Given the description of an element on the screen output the (x, y) to click on. 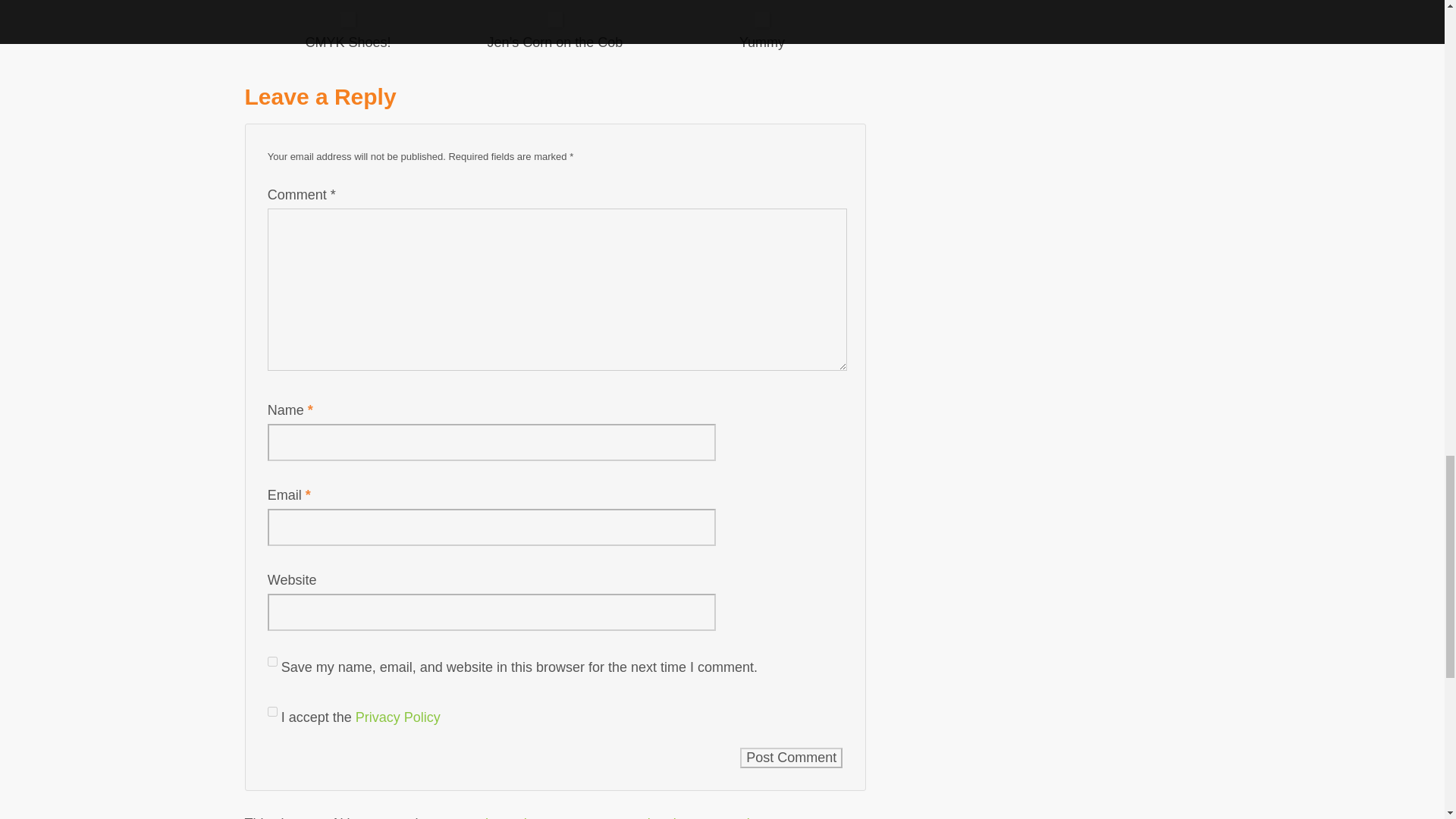
Post Comment (791, 757)
Post Comment (791, 757)
Privacy Policy (398, 717)
Learn how your comment data is processed (616, 817)
